Given the description of an element on the screen output the (x, y) to click on. 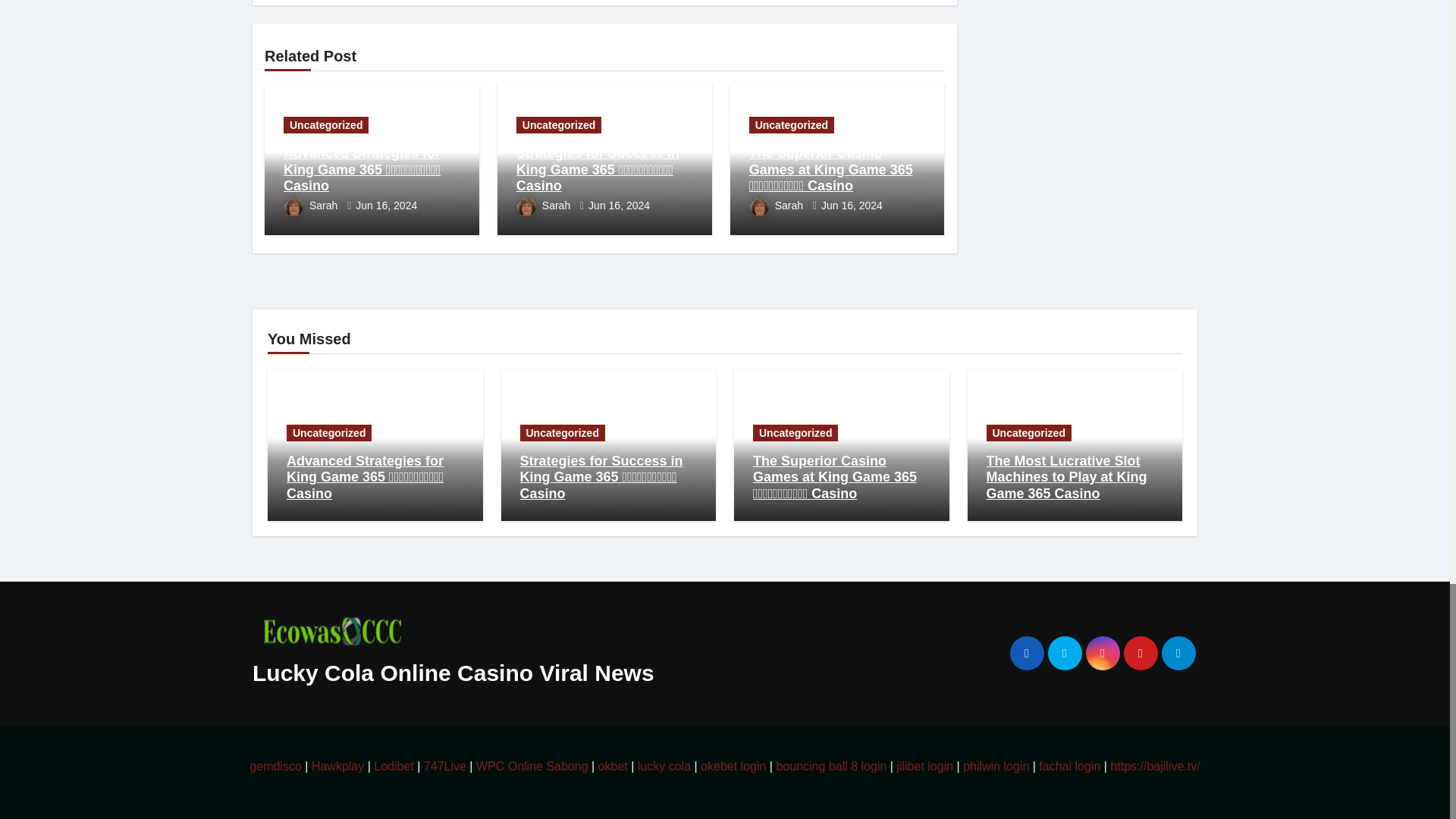
Sarah (311, 205)
Uncategorized (325, 125)
